Given the description of an element on the screen output the (x, y) to click on. 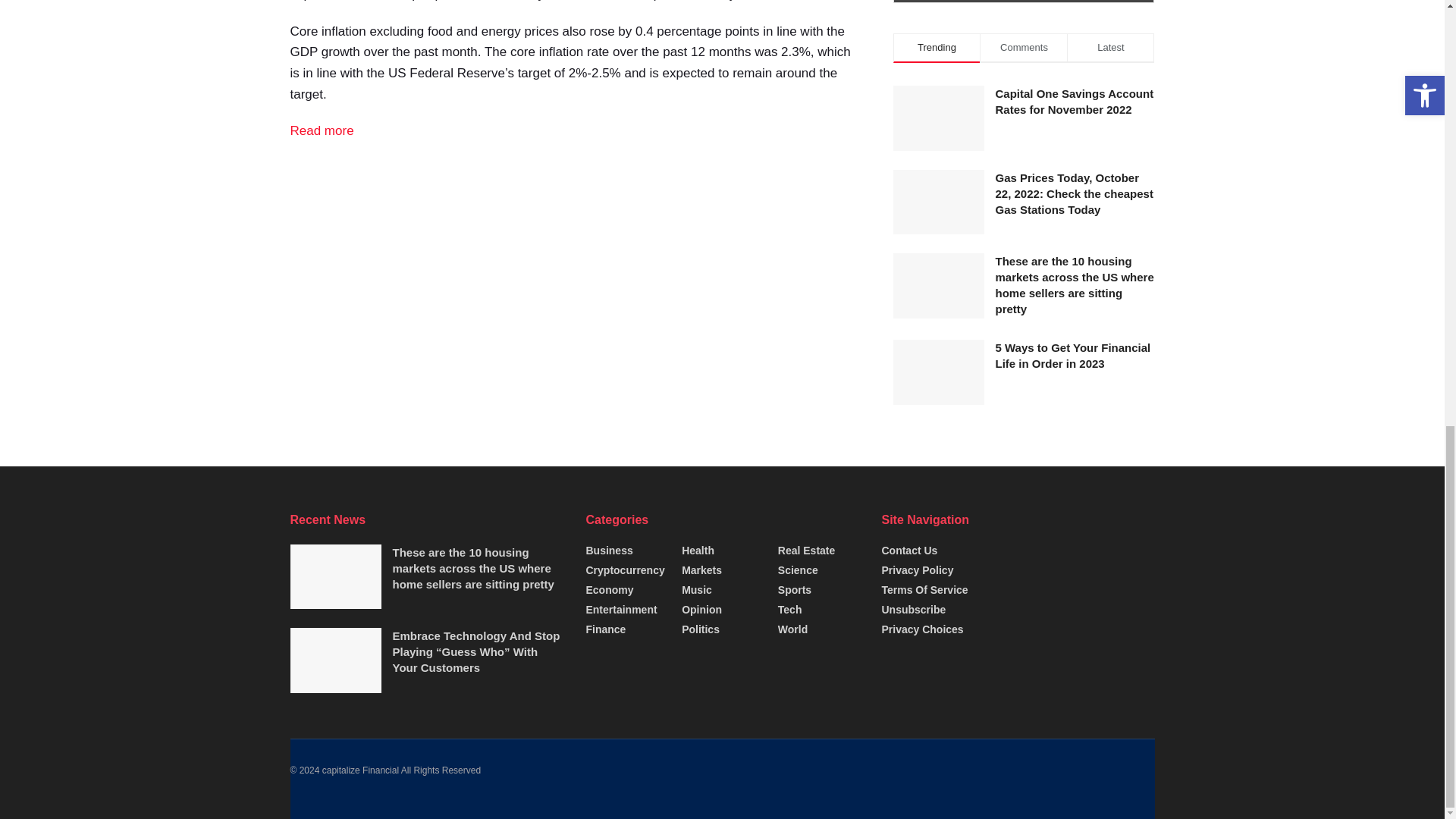
Subscribe (1023, 1)
